Given the description of an element on the screen output the (x, y) to click on. 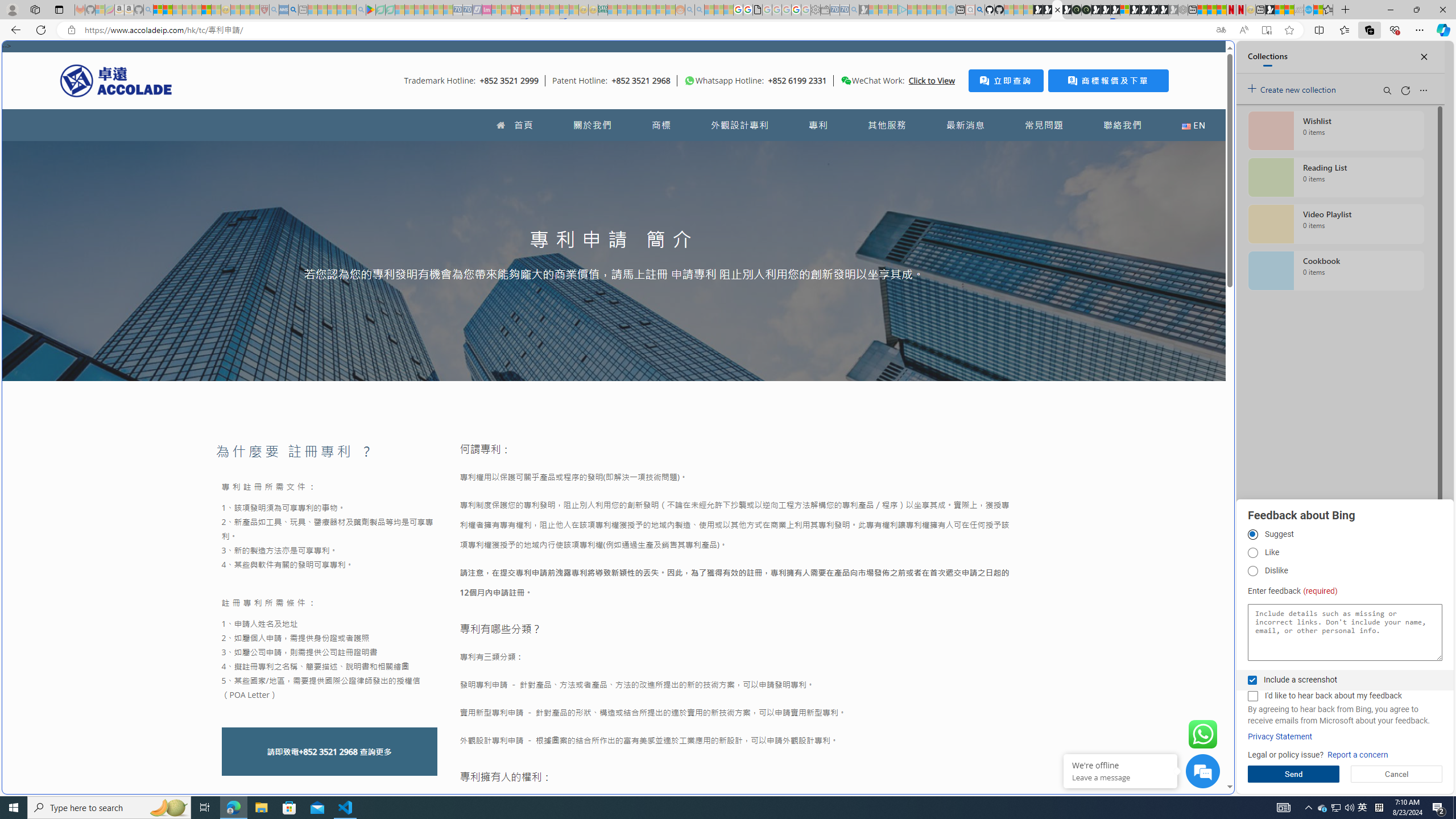
Like (1252, 552)
EN (1193, 124)
Show translate options (1220, 29)
